Given the description of an element on the screen output the (x, y) to click on. 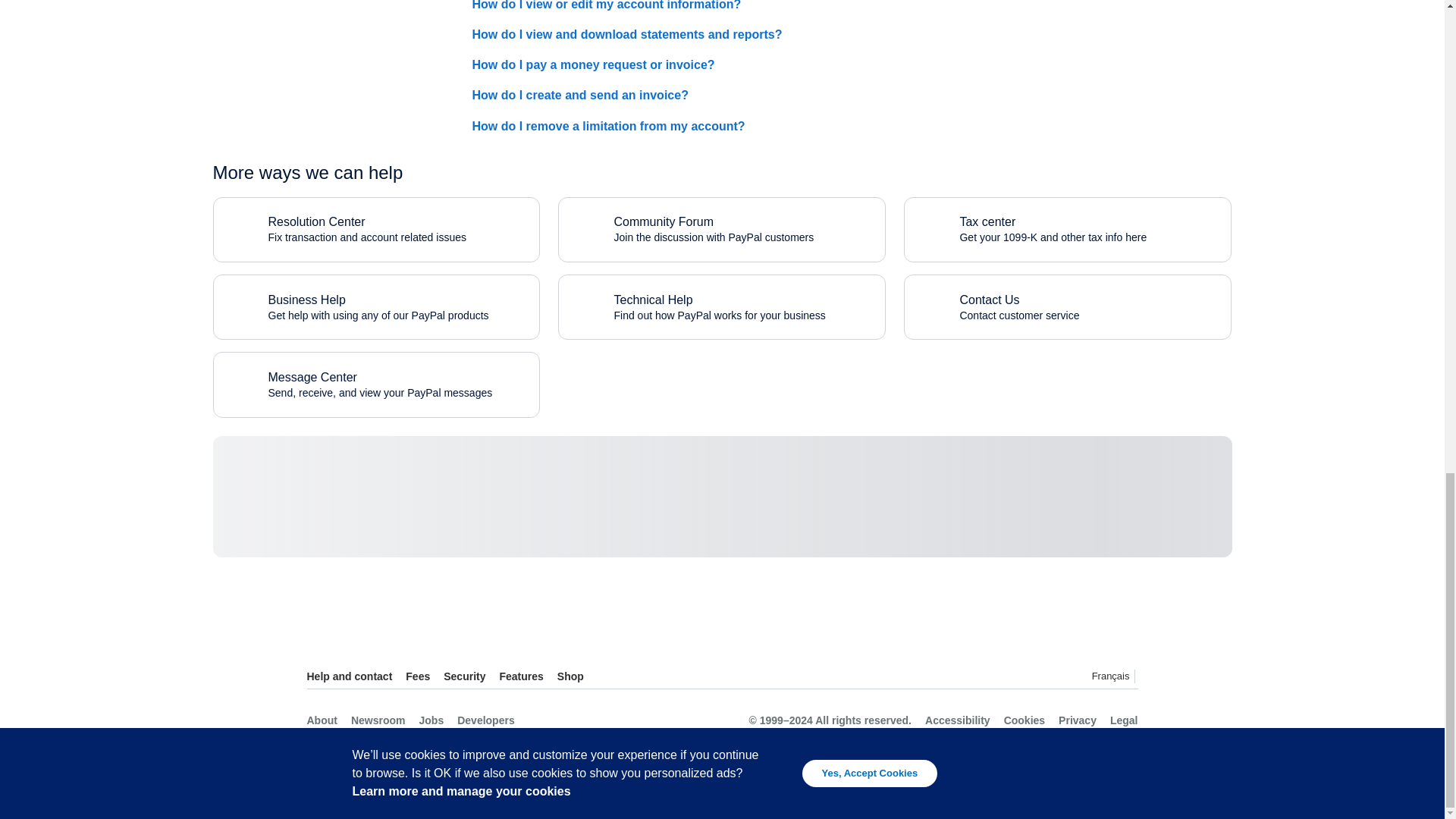
How do I view or edit my account information? (606, 10)
How do I pay a money request or invoice? (592, 68)
Community Forum (662, 221)
How do I view and download statements and reports? (376, 229)
How do I create and send an invoice? (721, 229)
Resolution Center (626, 38)
How do I remove a limitation from my account? (579, 98)
